Given the description of an element on the screen output the (x, y) to click on. 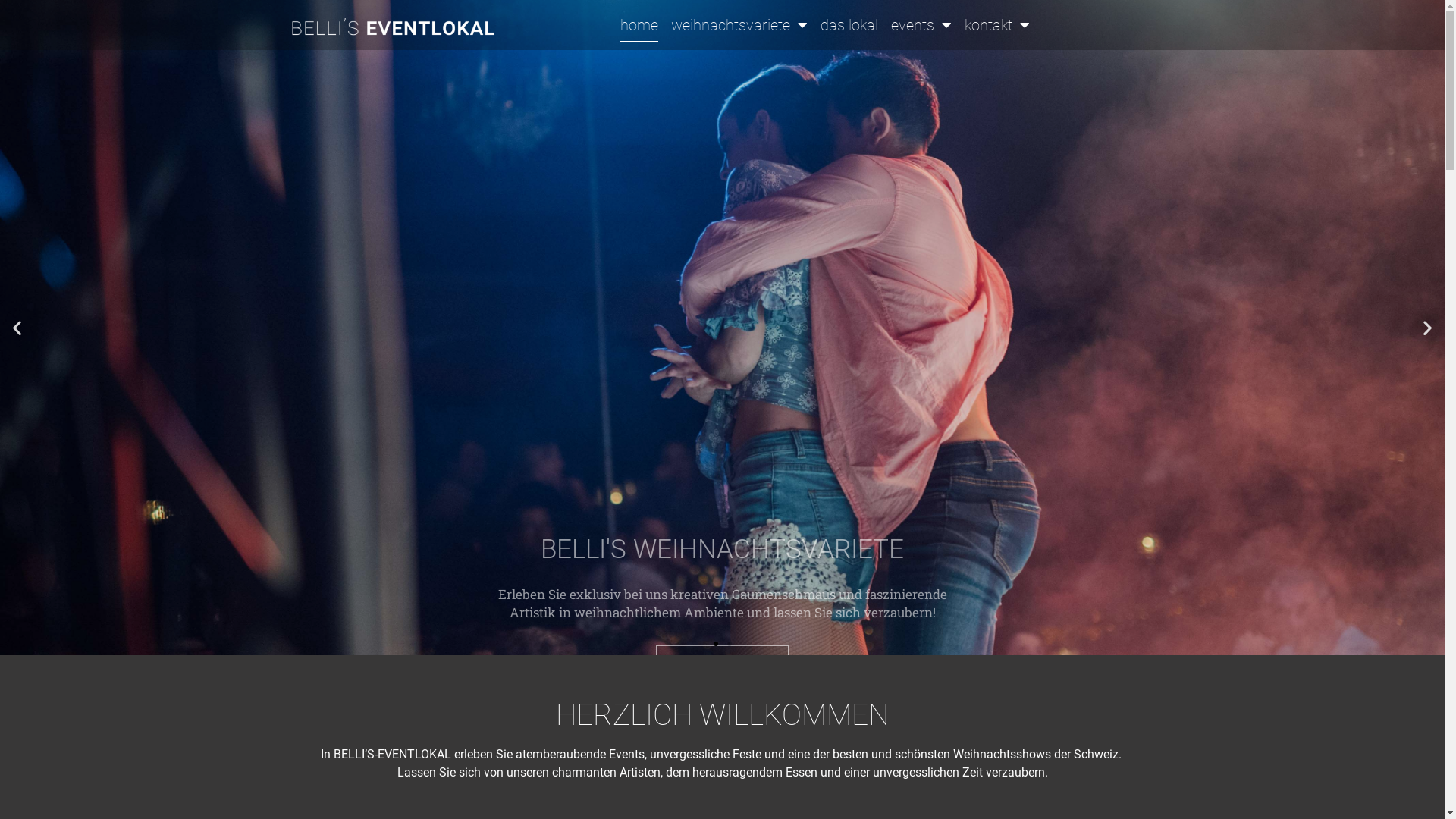
kontakt Element type: text (996, 24)
home Element type: text (639, 24)
Bellis-Eventlokal-nur-Schriftzug-WIDE Element type: hover (392, 28)
BELLI'S WEIHNACHTSVARIETE Element type: text (722, 327)
das lokal Element type: text (849, 24)
weihnachtsvariete Element type: text (739, 24)
events Element type: text (921, 24)
